Given the description of an element on the screen output the (x, y) to click on. 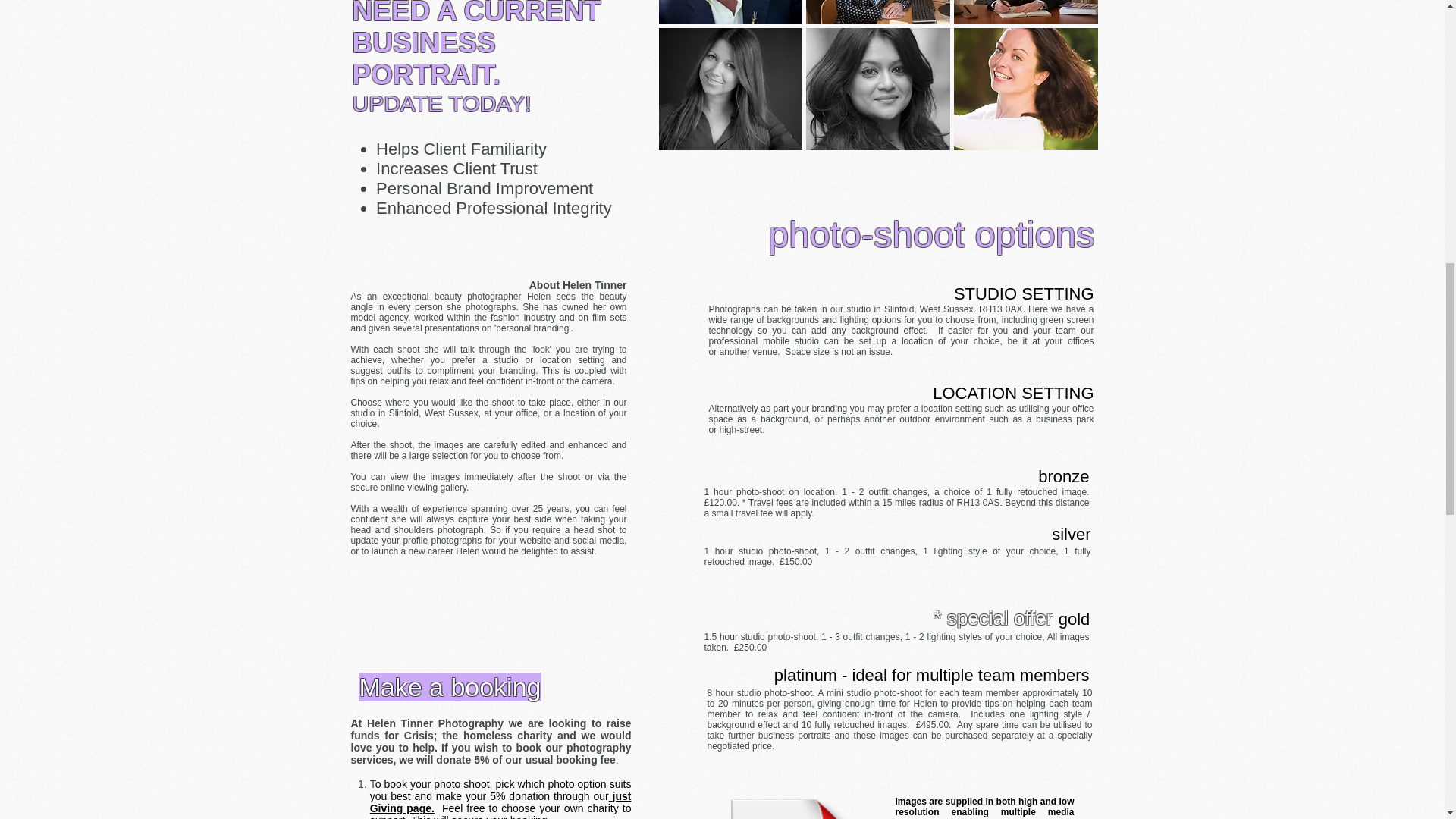
Branding (793, 800)
